Given the description of an element on the screen output the (x, y) to click on. 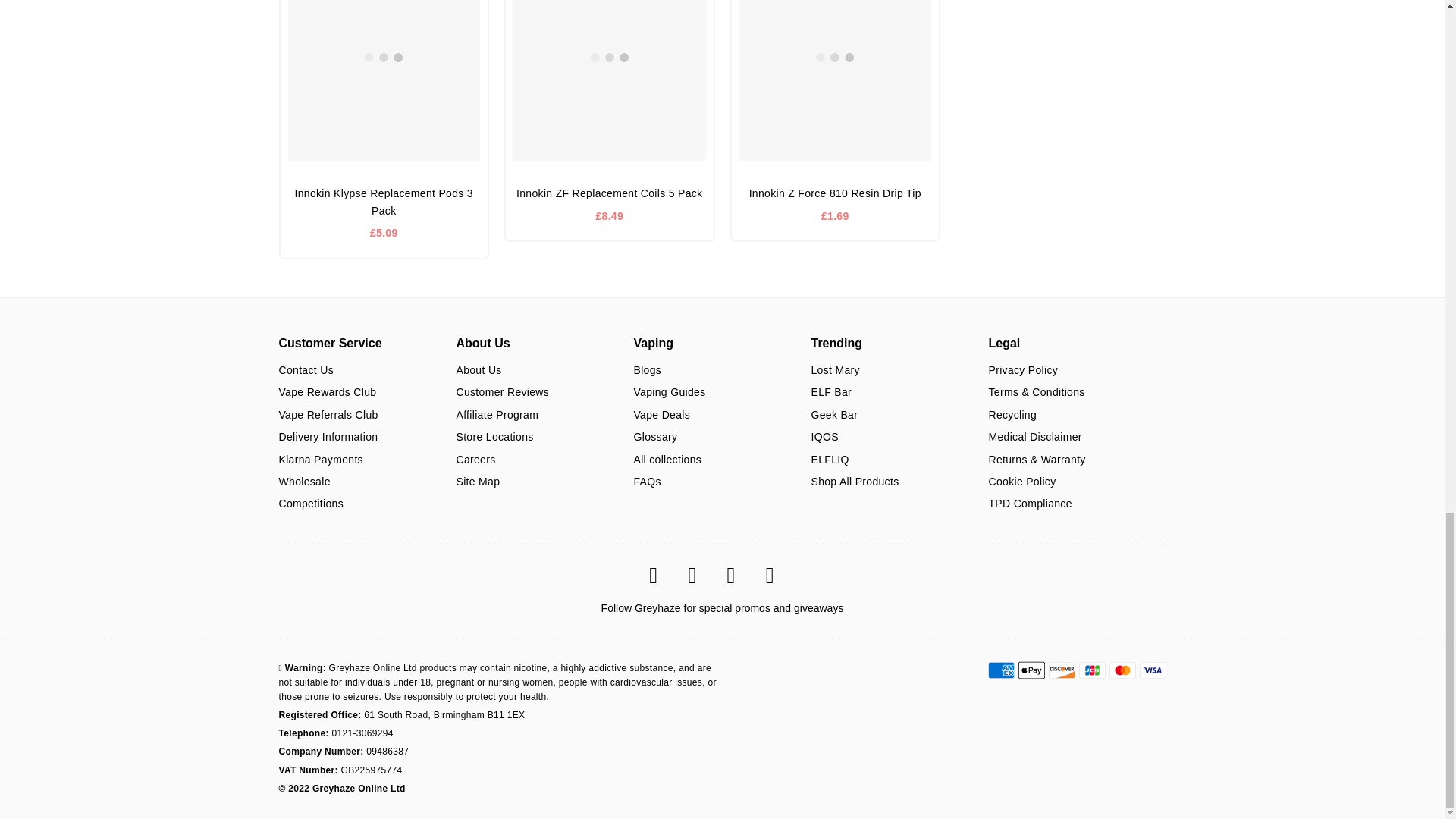
American Express (1000, 669)
Apple Pay (1030, 669)
Grey Haze on Pinterest (739, 575)
Mastercard (1121, 669)
JCB (1091, 669)
Discover (1061, 669)
Grey Haze on Facebook (661, 575)
Grey Haze on Instagram (778, 575)
Visa (1152, 669)
Grey Haze on Twitter (699, 575)
